Given the description of an element on the screen output the (x, y) to click on. 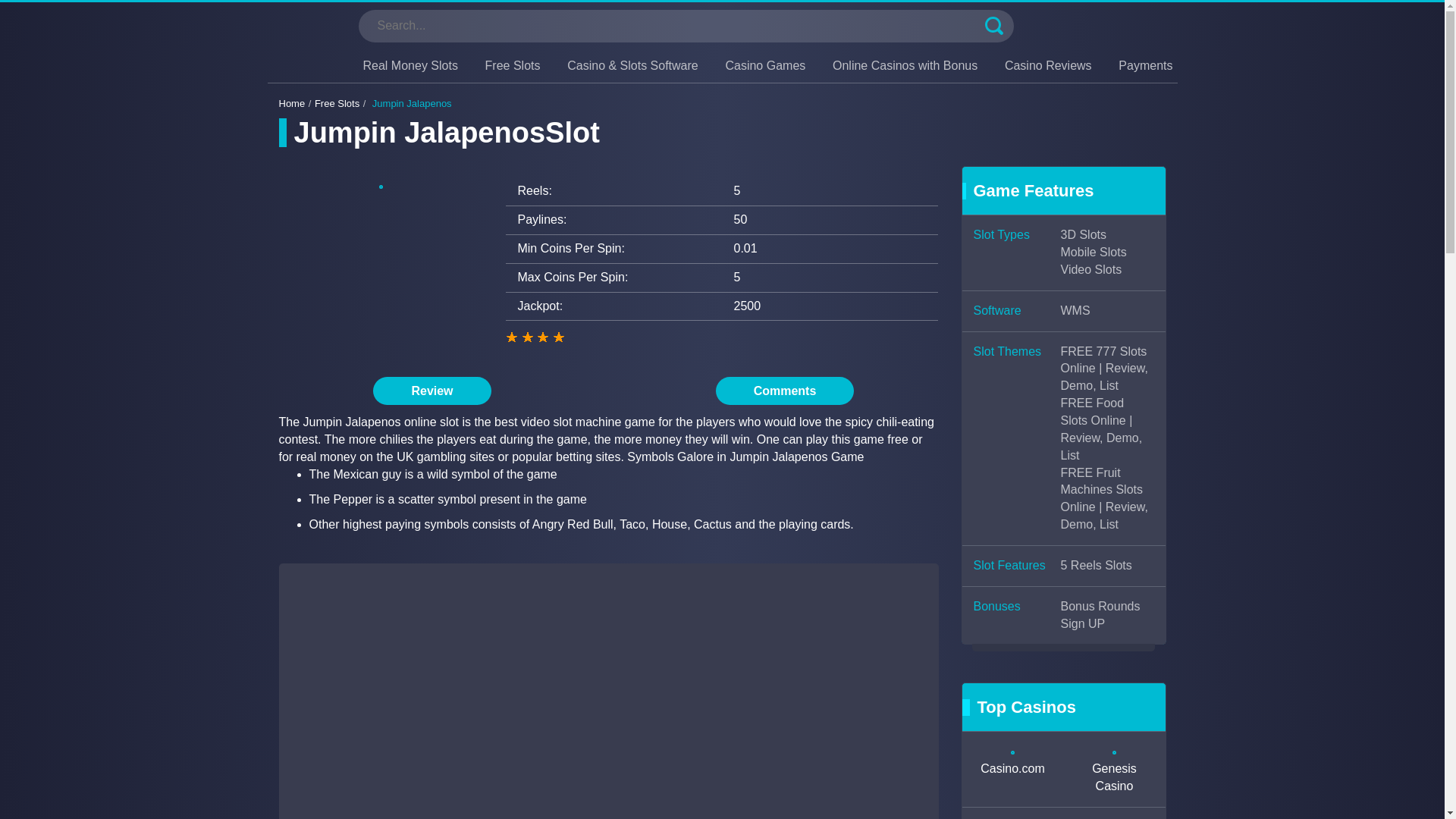
Payments (1145, 65)
Online Casinos with Bonus (904, 65)
Casino Reviews (1048, 65)
Real Money Slots (409, 65)
Free Slots (512, 65)
Casino Games (765, 65)
